Given the description of an element on the screen output the (x, y) to click on. 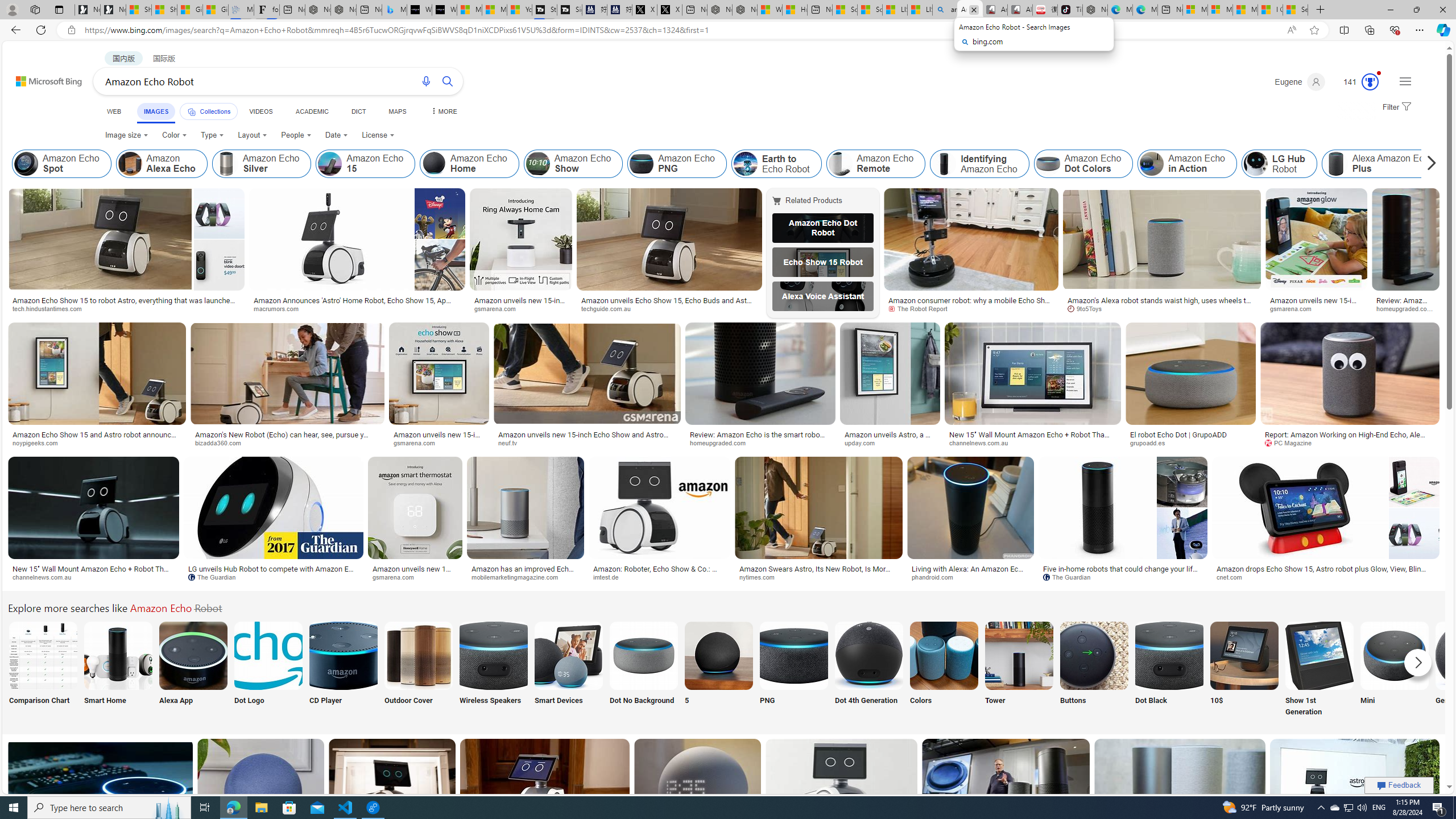
VIDEOS (260, 111)
El robot Echo Dot | GrupoADDgrupoadd.esSave (1192, 387)
Nordace - #1 Japanese Best-Seller - Siena Smart Backpack (343, 9)
MAPS (397, 111)
Earth to Echo Robot (745, 163)
Amazon Echo Wireless Speakers (493, 654)
Amazon Echo Dot Robot (822, 227)
Dot Logo (268, 669)
PNG (794, 669)
